Given the description of an element on the screen output the (x, y) to click on. 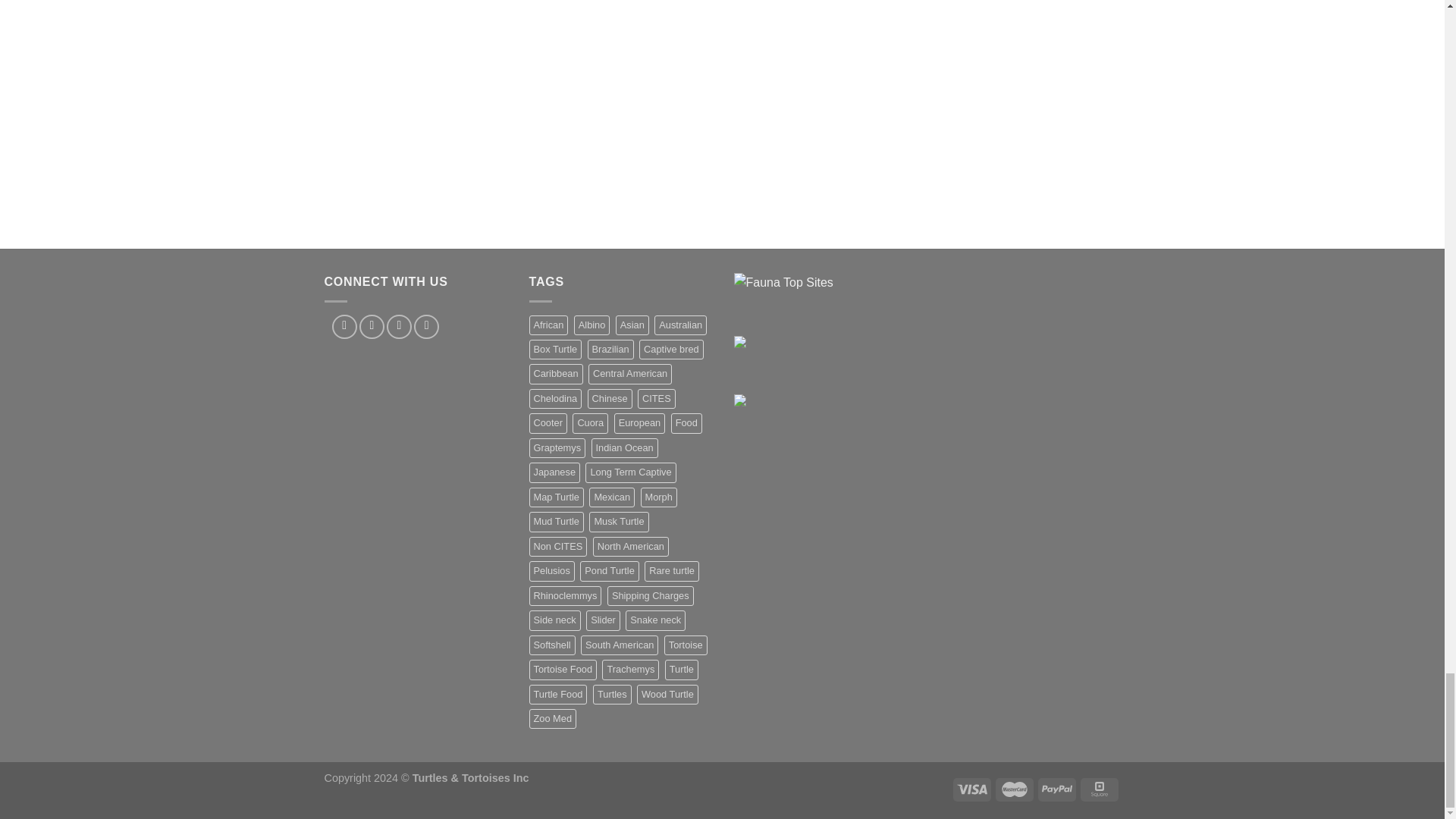
Follow on Facebook (343, 326)
